Given the description of an element on the screen output the (x, y) to click on. 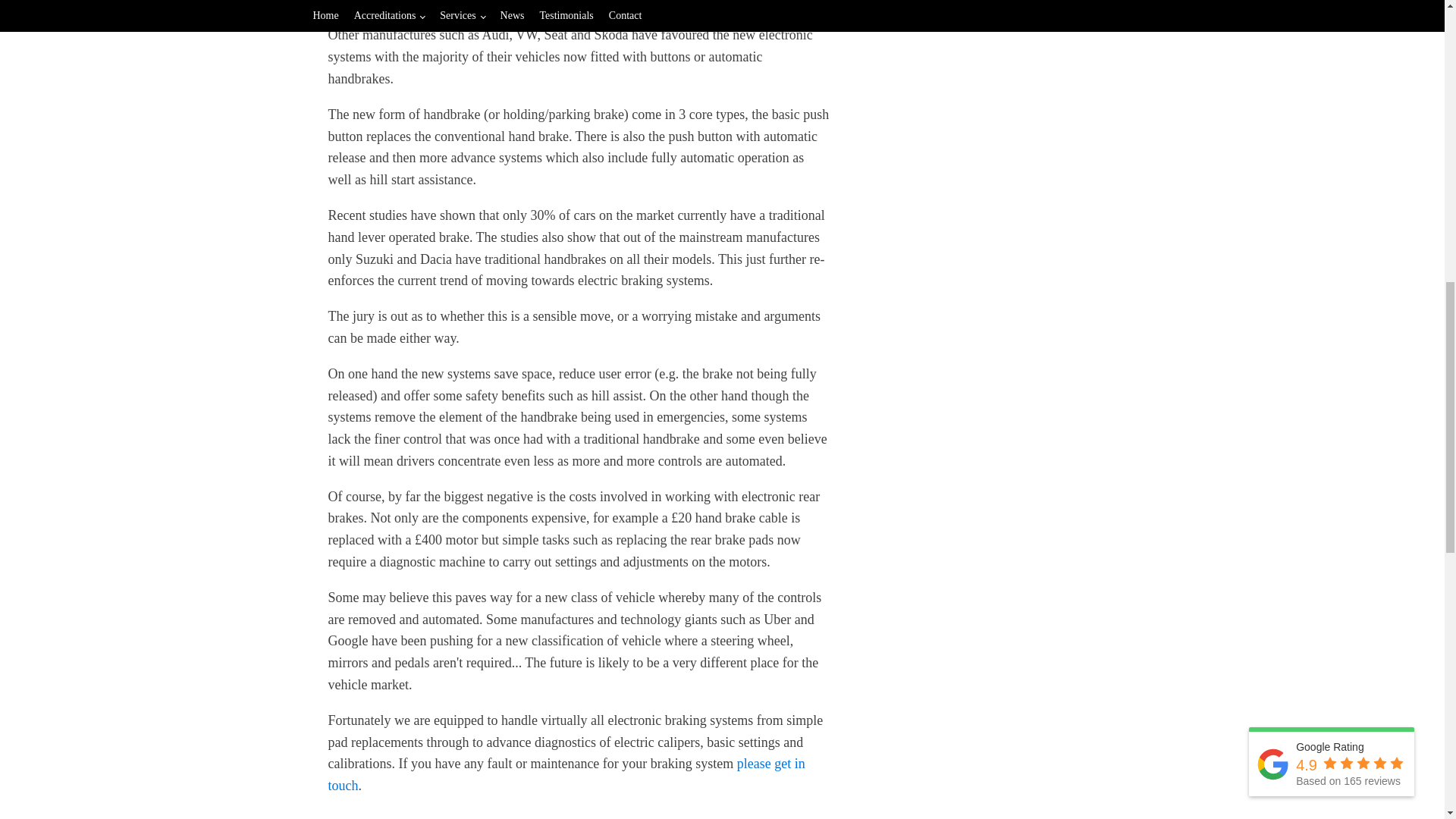
please get in touch (566, 774)
